Given the description of an element on the screen output the (x, y) to click on. 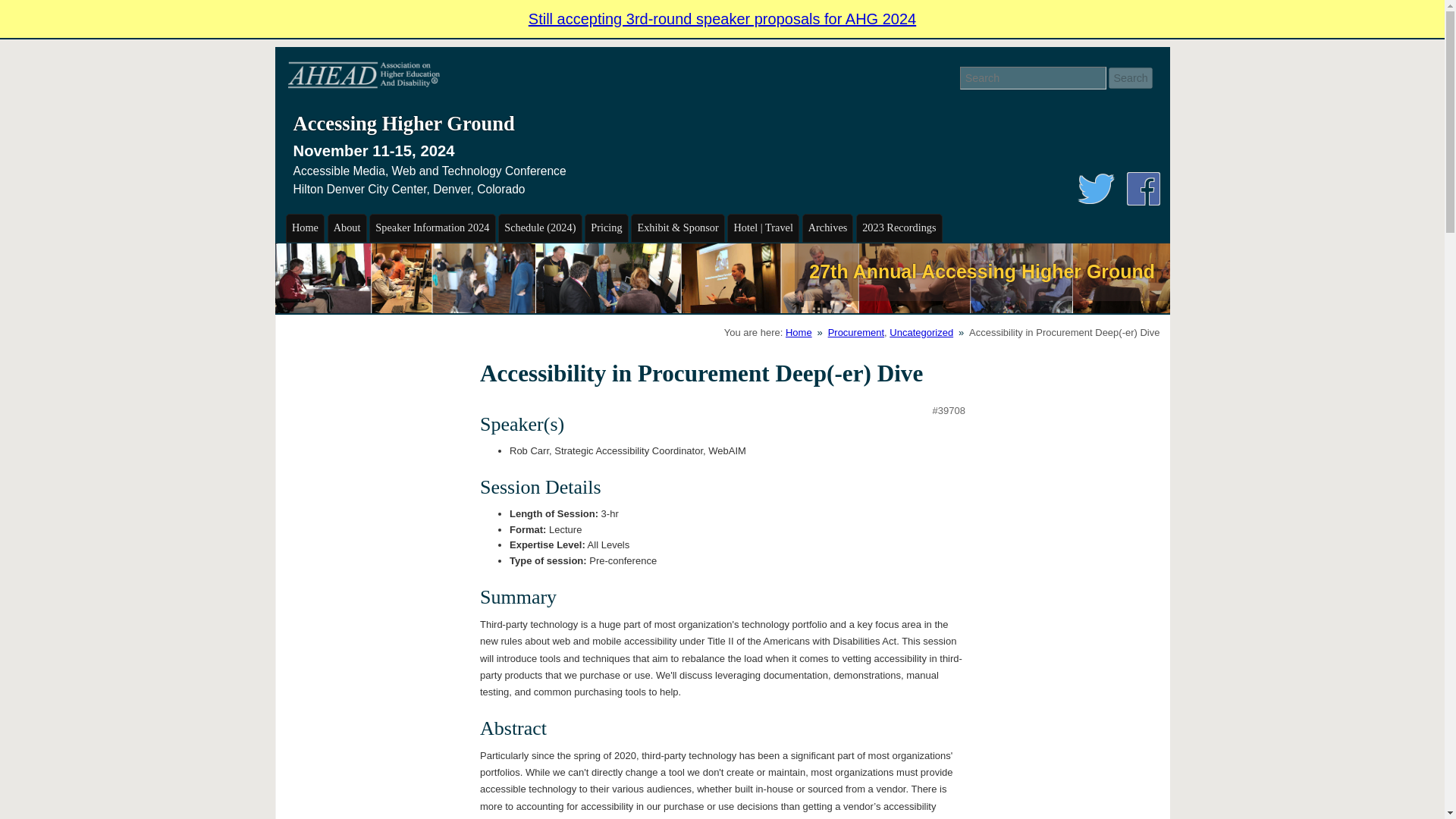
Home (799, 332)
About (346, 227)
Twitter (1096, 187)
Home (304, 227)
Uncategorized (921, 332)
Search (1129, 77)
Facebook (1142, 187)
2023 Recordings (899, 227)
Search (1129, 77)
